Given the description of an element on the screen output the (x, y) to click on. 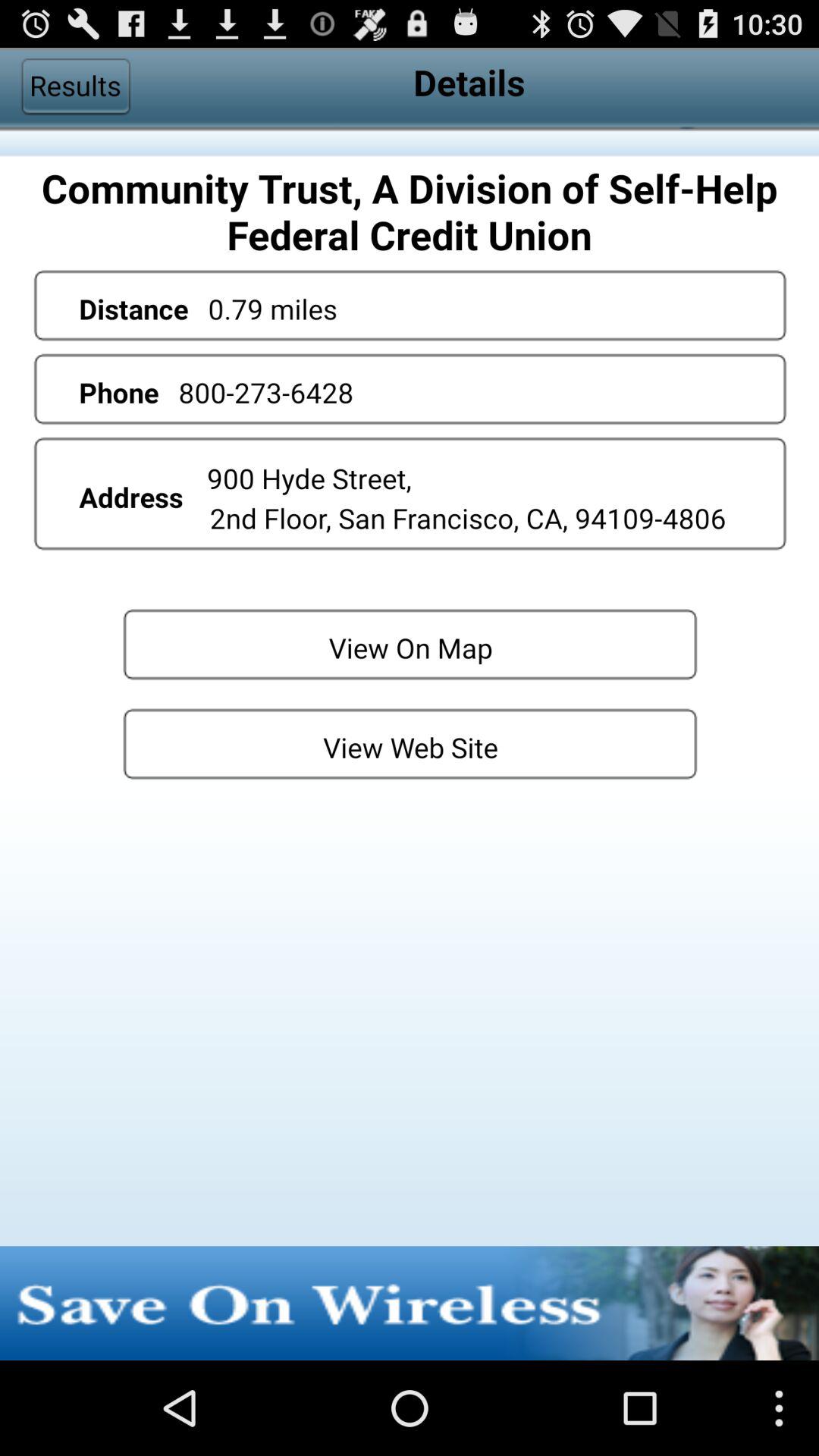
swipe to 800-273-6428 app (265, 392)
